Given the description of an element on the screen output the (x, y) to click on. 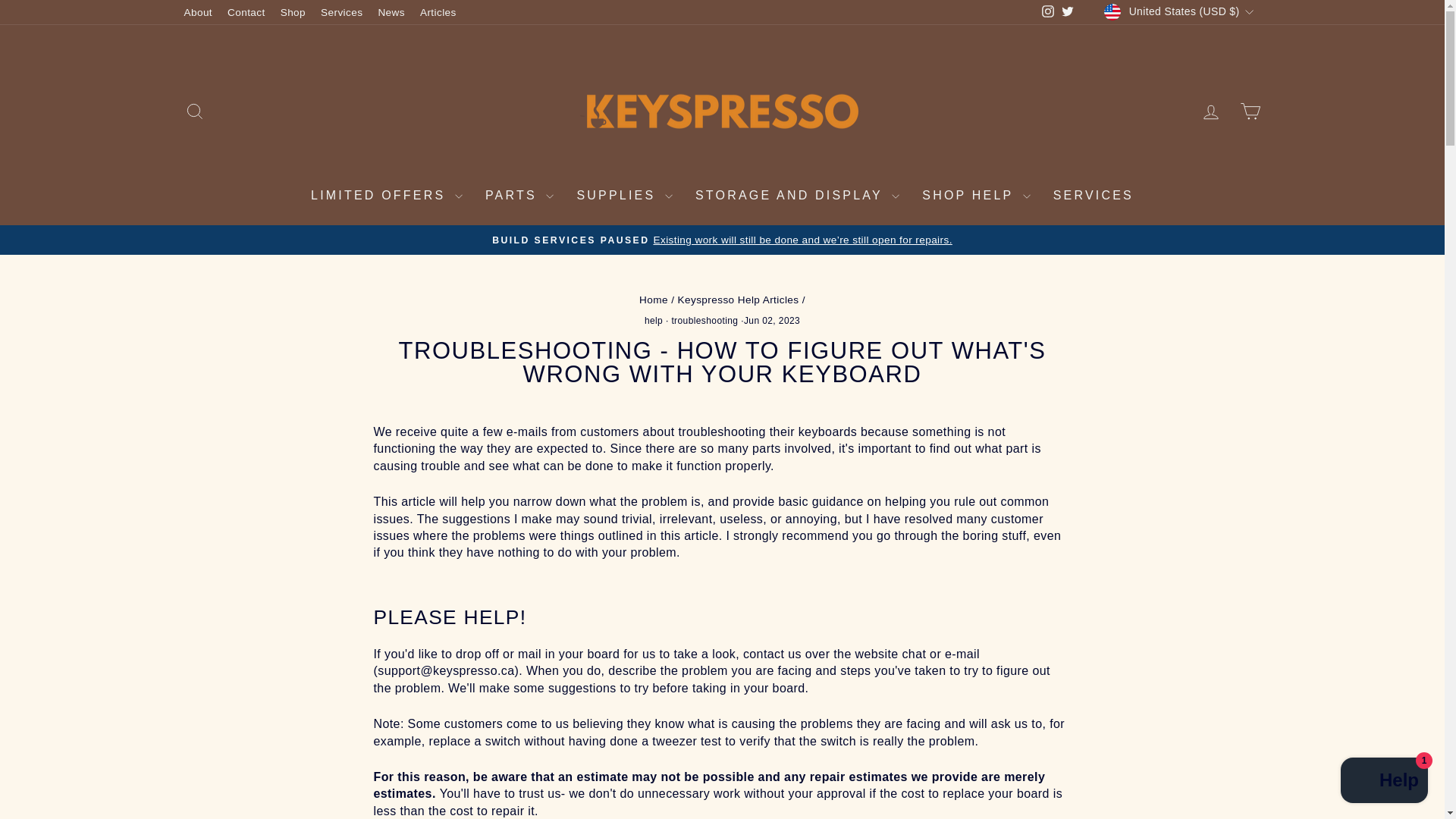
Back to the frontpage (653, 299)
instagram (1048, 10)
Keyspresso on Instagram (1048, 12)
Keyspresso on Twitter (1067, 12)
ACCOUNT (1210, 111)
ICON-SEARCH (194, 111)
twitter (1067, 10)
Shopify online store chat (1384, 781)
